Given the description of an element on the screen output the (x, y) to click on. 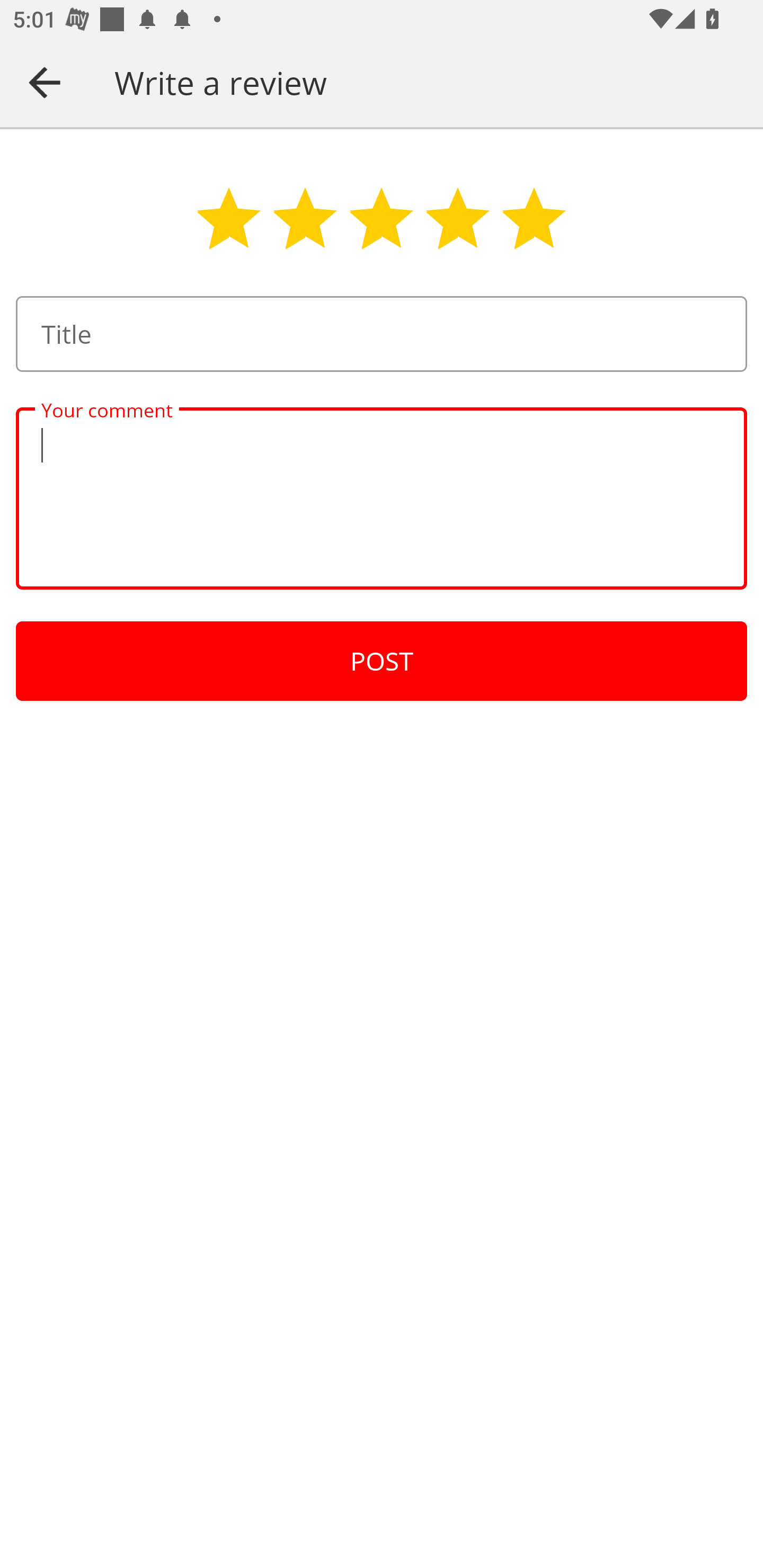
Navigate up (44, 82)
Title (381, 333)
Your comment (381, 498)
POST (381, 660)
